Given the description of an element on the screen output the (x, y) to click on. 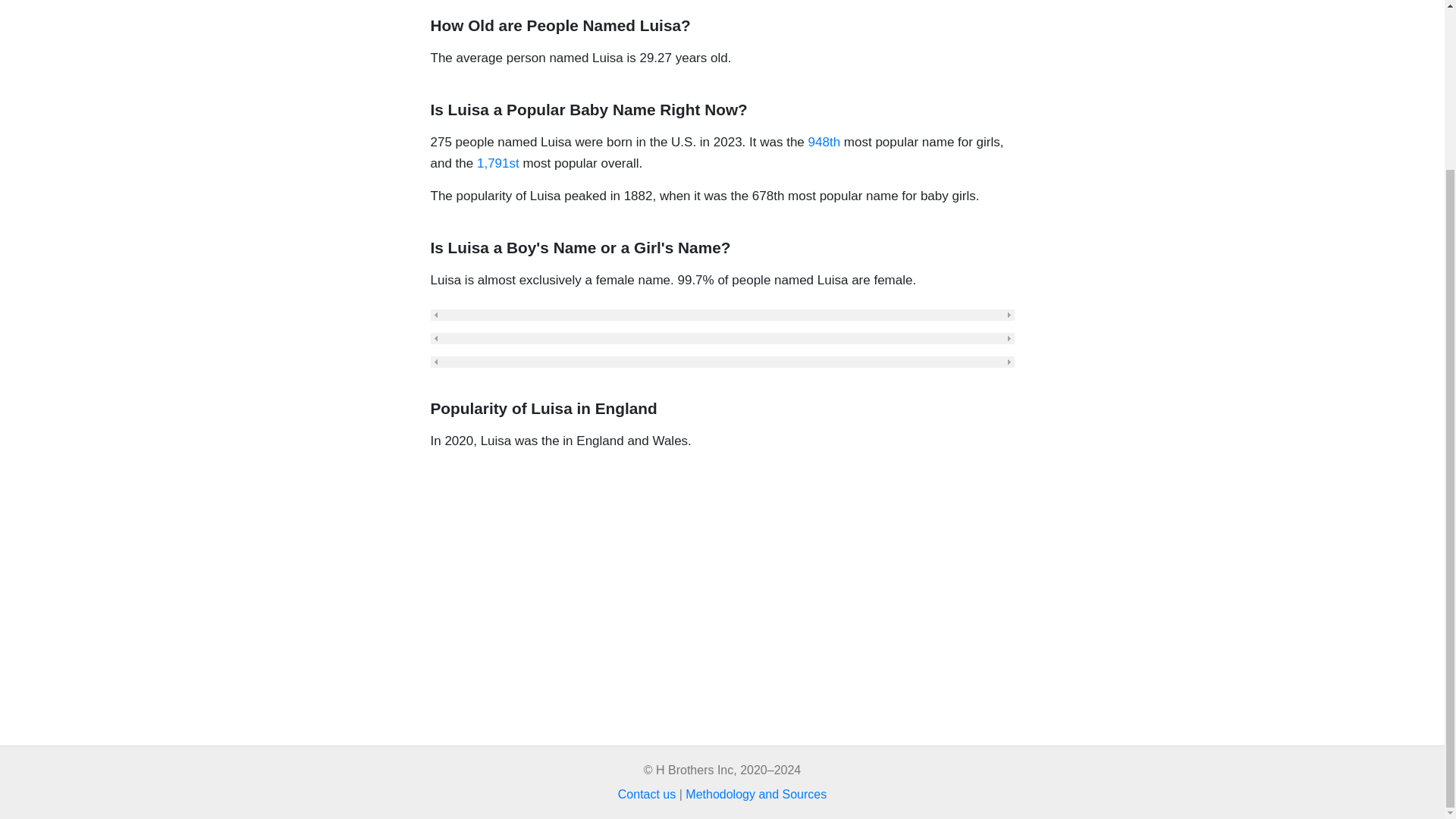
Methodology and Sources (756, 793)
948th (824, 142)
1,791st (498, 163)
Contact us (646, 793)
